Given the description of an element on the screen output the (x, y) to click on. 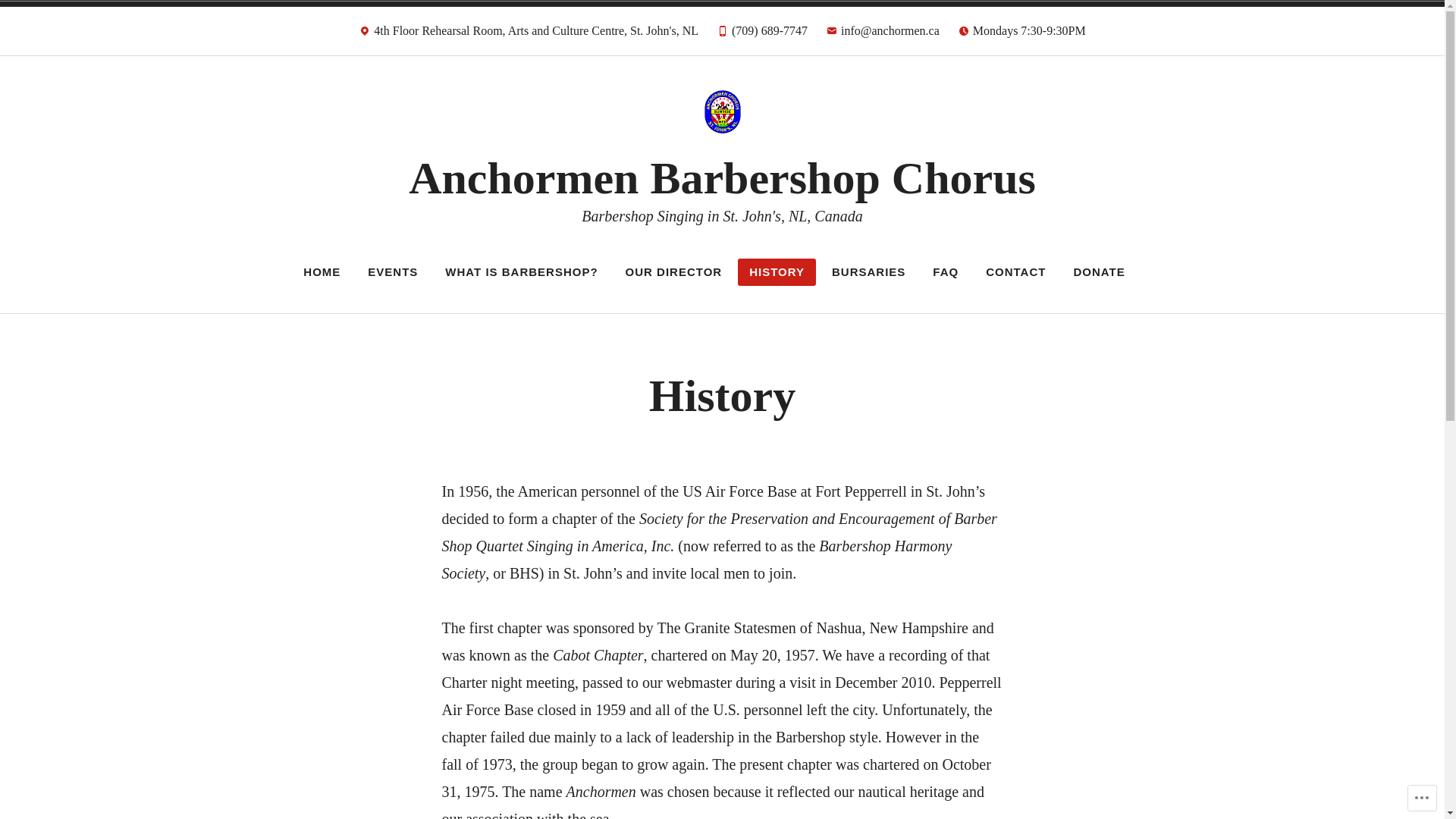
HOME Element type: text (321, 271)
OUR DIRECTOR Element type: text (674, 271)
WHAT IS BARBERSHOP? Element type: text (520, 271)
EVENTS Element type: text (392, 271)
Anchormen Barbershop Chorus Element type: text (721, 178)
Phone (709) 689-7747 Element type: text (762, 34)
CONTACT Element type: text (1015, 271)
DONATE Element type: text (1098, 271)
FAQ Element type: text (945, 271)
E-mail info@anchormen.ca Element type: text (882, 34)
BURSARIES Element type: text (868, 271)
HISTORY Element type: text (776, 271)
